Given the description of an element on the screen output the (x, y) to click on. 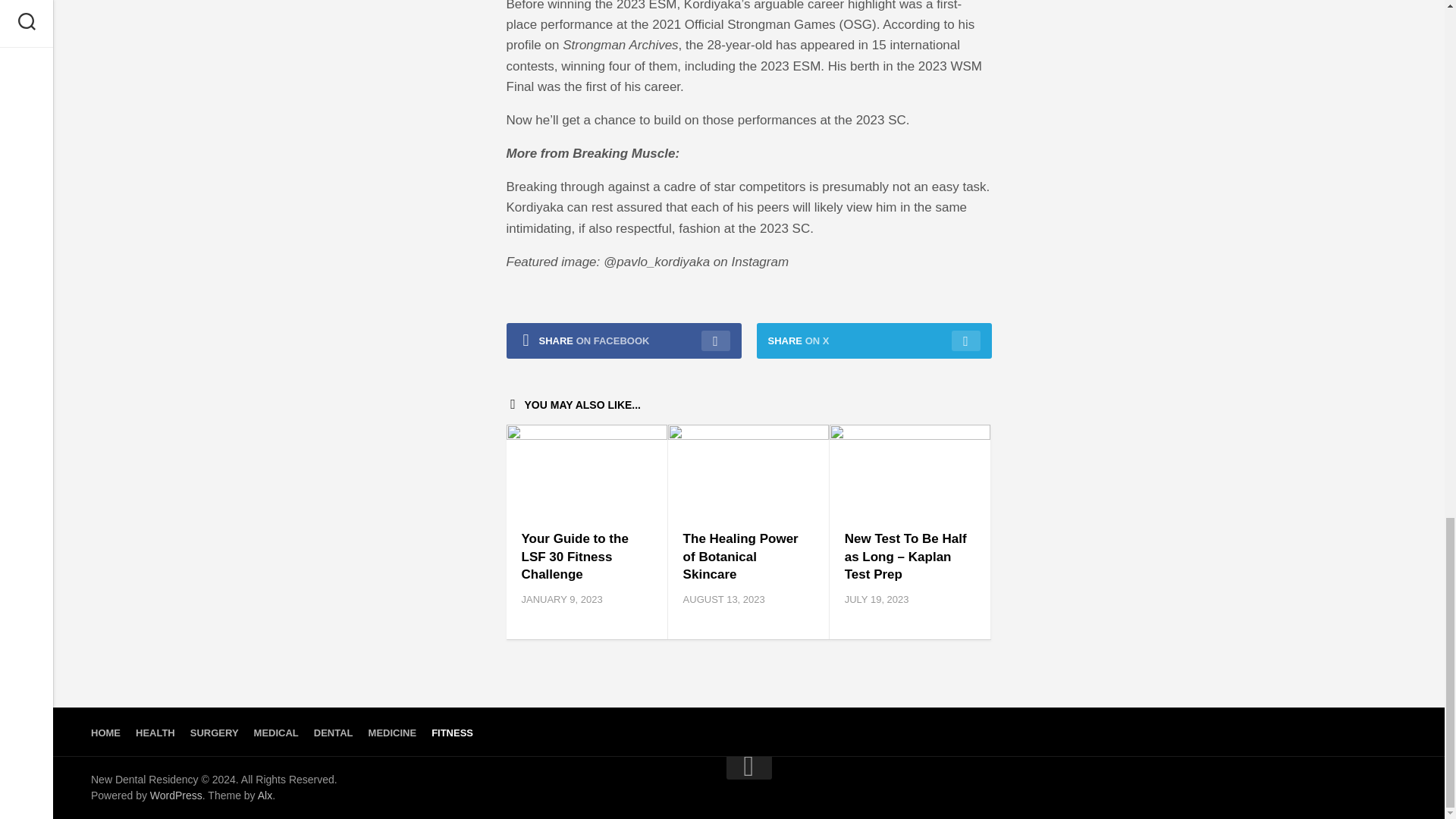
SURGERY (214, 733)
The Healing Power of Botanical Skincare (739, 556)
MEDICINE (392, 733)
Your Guide to the LSF 30 Fitness Challenge (574, 556)
SHARE ON X (874, 340)
MEDICAL (275, 733)
HEALTH (154, 733)
DENTAL (333, 733)
HOME (105, 733)
SHARE ON FACEBOOK (623, 340)
